Given the description of an element on the screen output the (x, y) to click on. 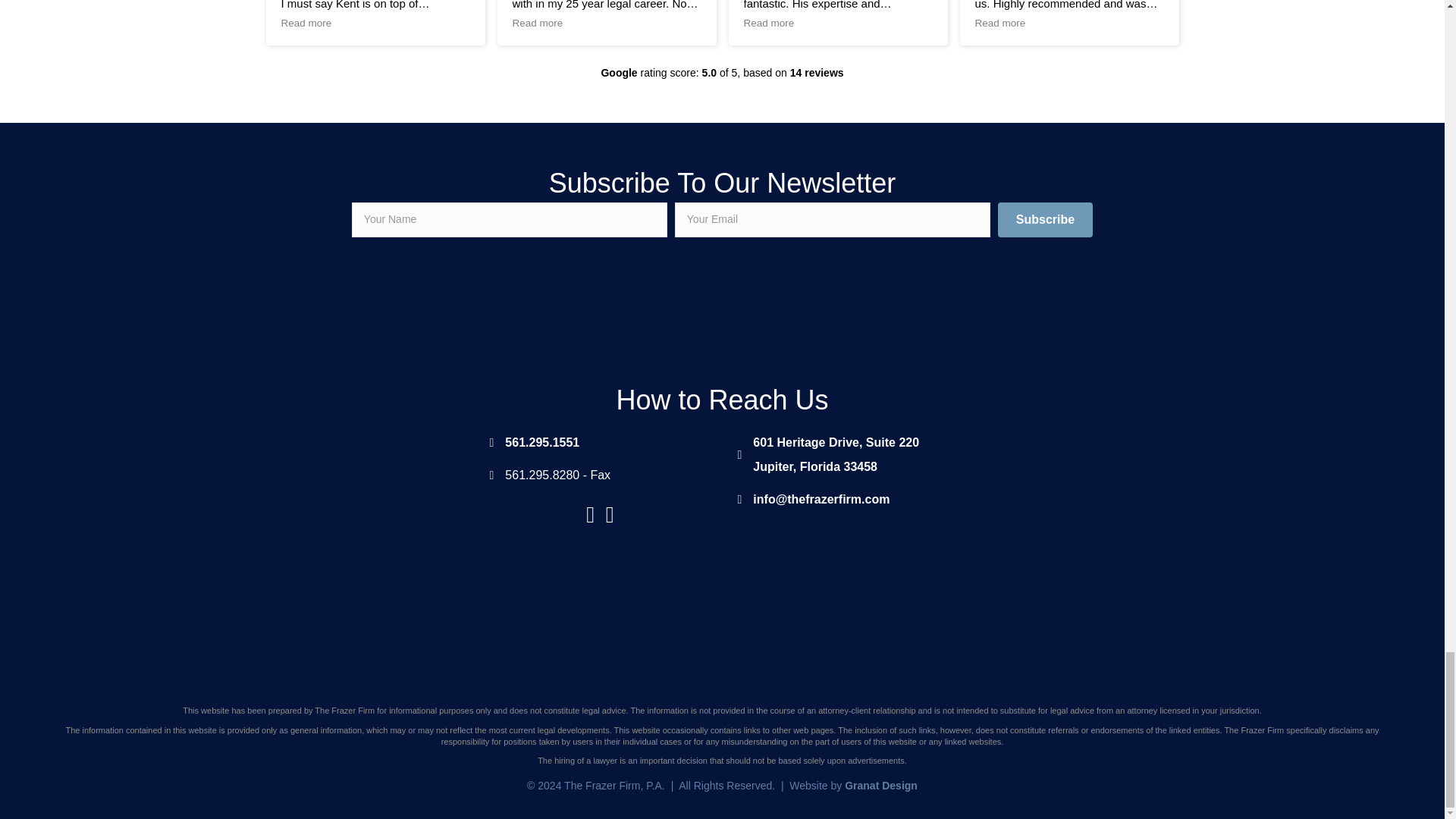
561.295.1551 (542, 442)
Subscribe (1045, 219)
Blue-box-full-badge-F (391, 298)
Granat Design (835, 454)
florida-trends-legal-elite-logo (880, 785)
Click Here (1052, 299)
